Given the description of an element on the screen output the (x, y) to click on. 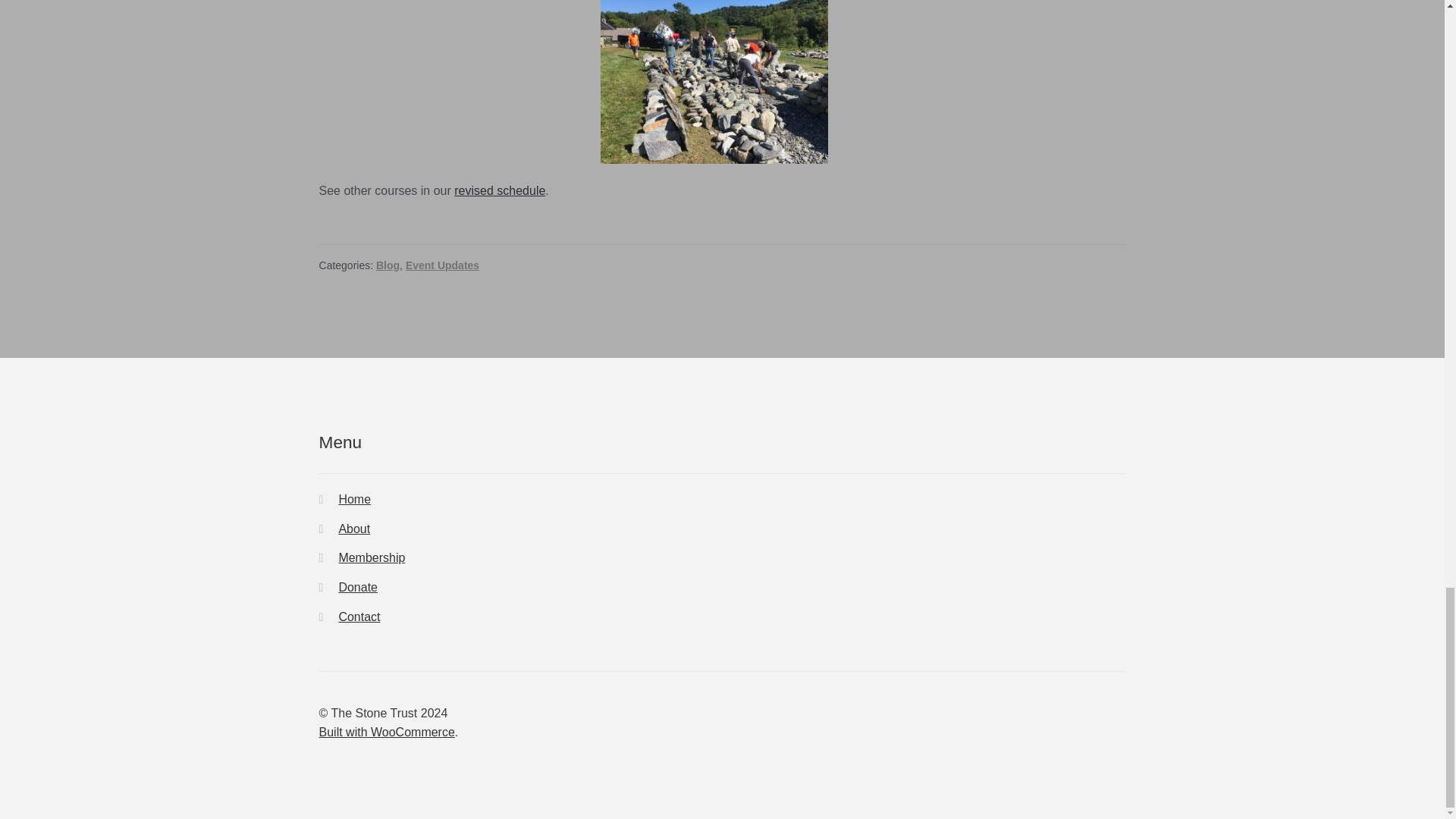
WooCommerce - The Best eCommerce Platform for WordPress (386, 731)
